Given the description of an element on the screen output the (x, y) to click on. 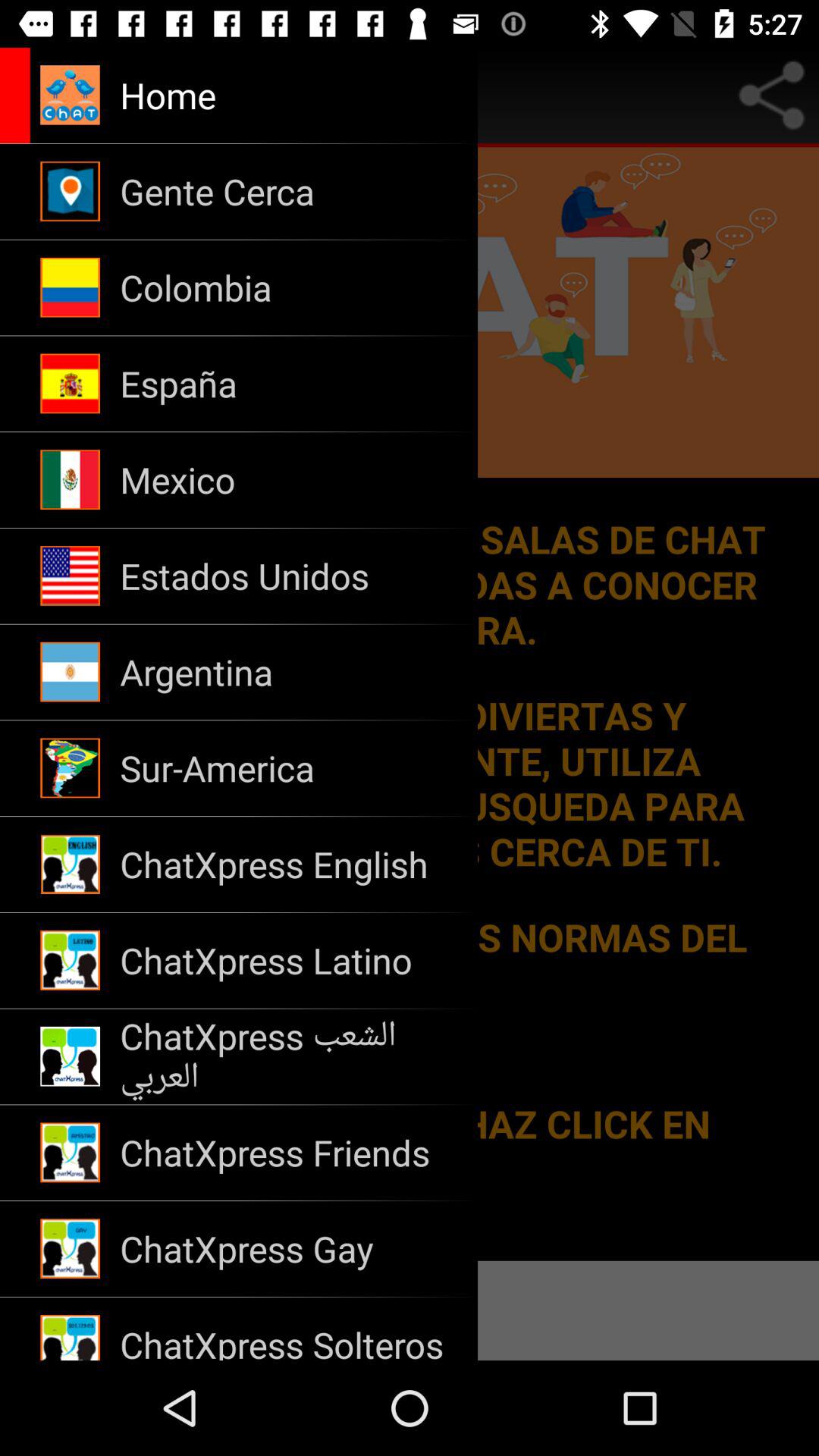
turn on the item above mexico item (288, 383)
